Given the description of an element on the screen output the (x, y) to click on. 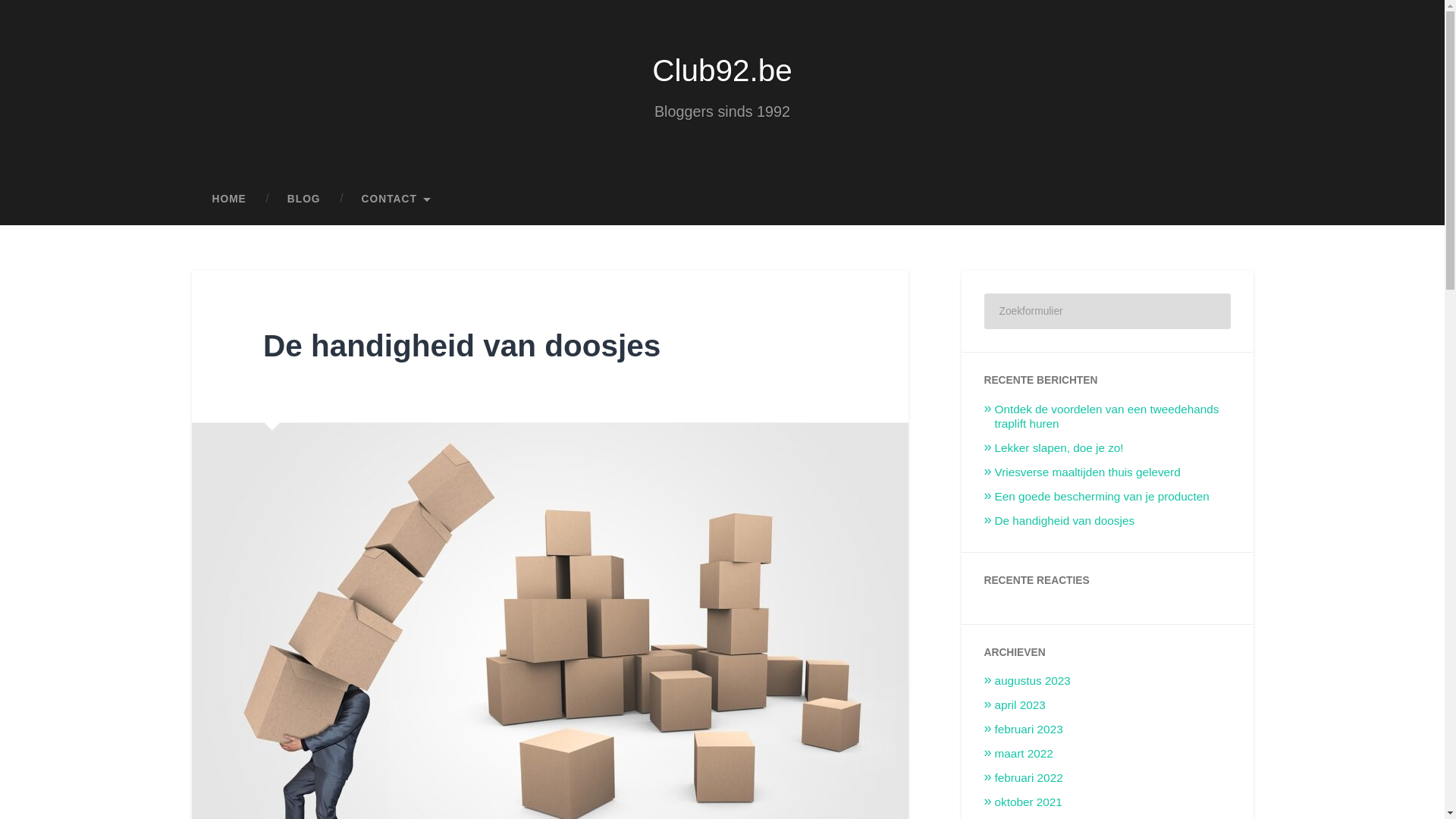
De handigheid van doosjes Element type: text (461, 345)
Ontdek de voordelen van een tweedehands traplift huren Element type: text (1106, 416)
CONTACT Element type: text (396, 199)
Vriesverse maaltijden thuis geleverd Element type: text (1087, 471)
BLOG Element type: text (303, 199)
maart 2022 Element type: text (1023, 752)
De handigheid van doosjes Element type: text (1064, 520)
augustus 2023 Element type: text (1032, 680)
Zoeken Element type: text (1208, 310)
oktober 2021 Element type: text (1028, 801)
Lekker slapen, doe je zo! Element type: text (1058, 447)
HOME Element type: text (228, 199)
april 2023 Element type: text (1019, 704)
Club92.be Element type: text (722, 70)
Een goede bescherming van je producten Element type: text (1101, 495)
februari 2023 Element type: text (1028, 728)
februari 2022 Element type: text (1028, 777)
